Given the description of an element on the screen output the (x, y) to click on. 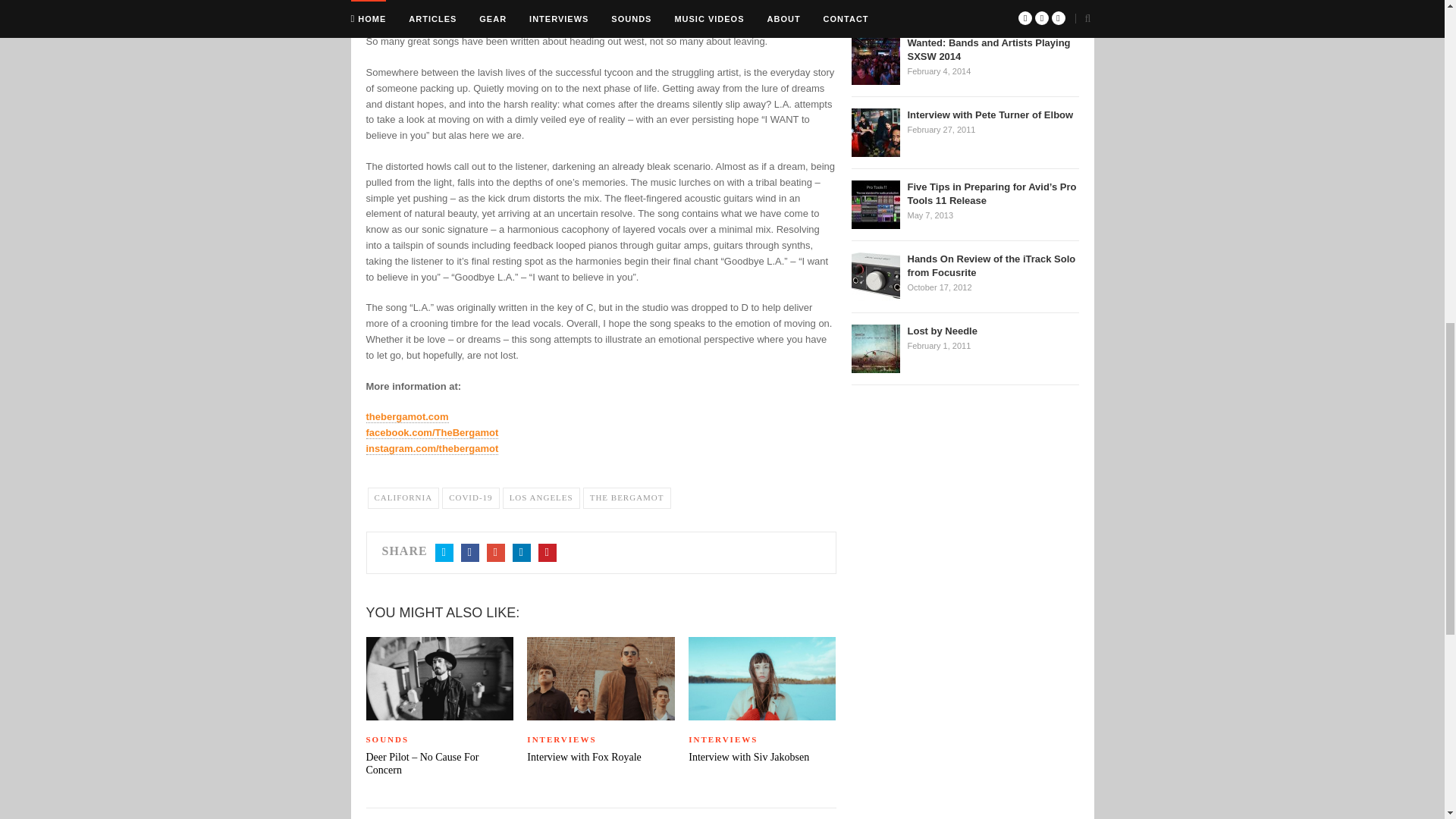
PINTEREST (547, 552)
FACEBOOK (470, 552)
THE BERGAMOT (627, 497)
LINKEDIN (521, 552)
TWITTER (443, 552)
SOUNDS (438, 739)
thebergamot.com (406, 417)
LOS ANGELES (540, 497)
CALIFORNIA (402, 497)
COVID-19 (470, 497)
